Given the description of an element on the screen output the (x, y) to click on. 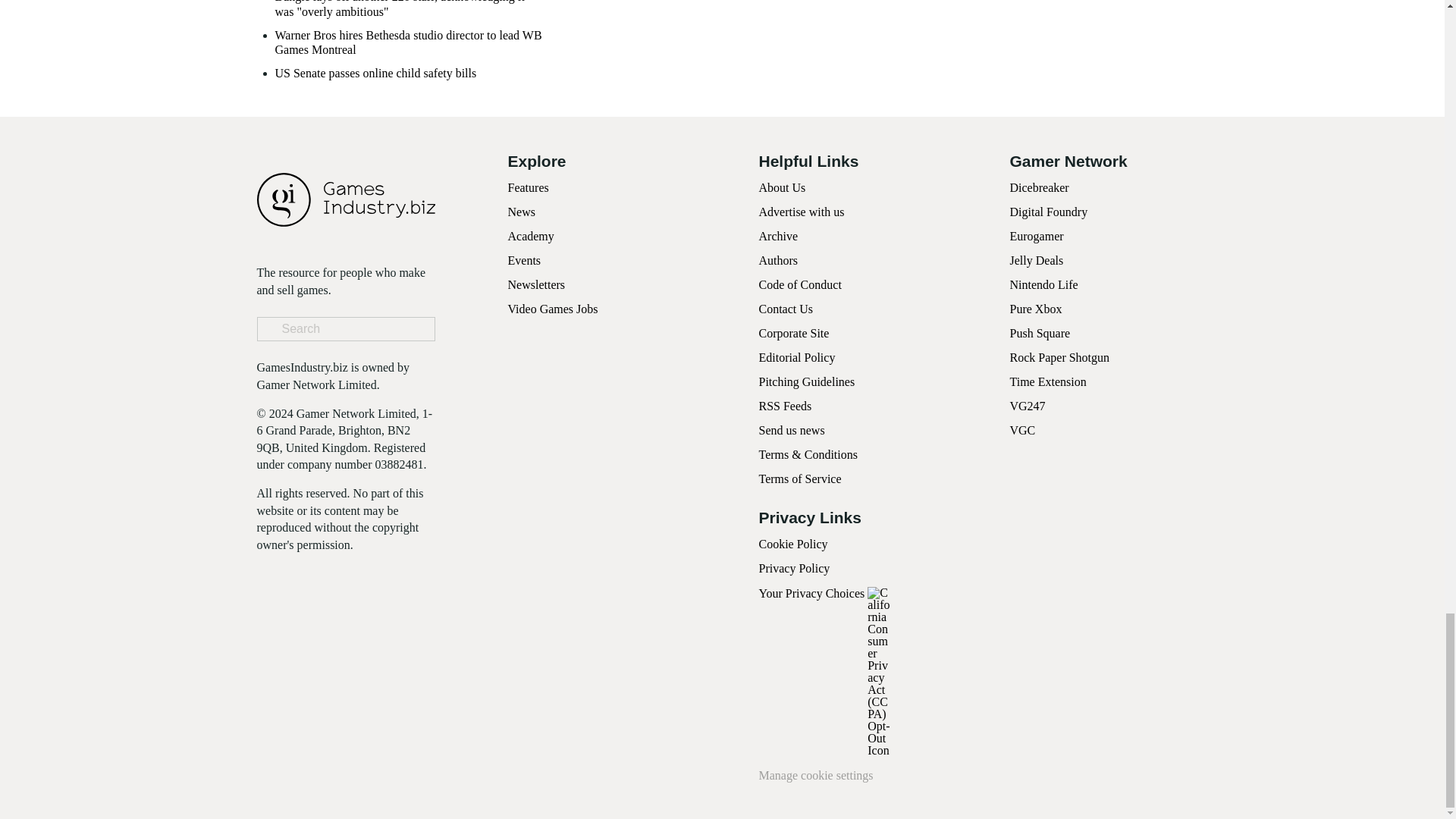
Newsletters (537, 284)
Features (528, 187)
Academy (531, 236)
Video Games Jobs (553, 308)
News (521, 211)
US Senate passes online child safety bills (375, 73)
About Us (781, 187)
Advertise with us (801, 211)
Events (524, 259)
